Given the description of an element on the screen output the (x, y) to click on. 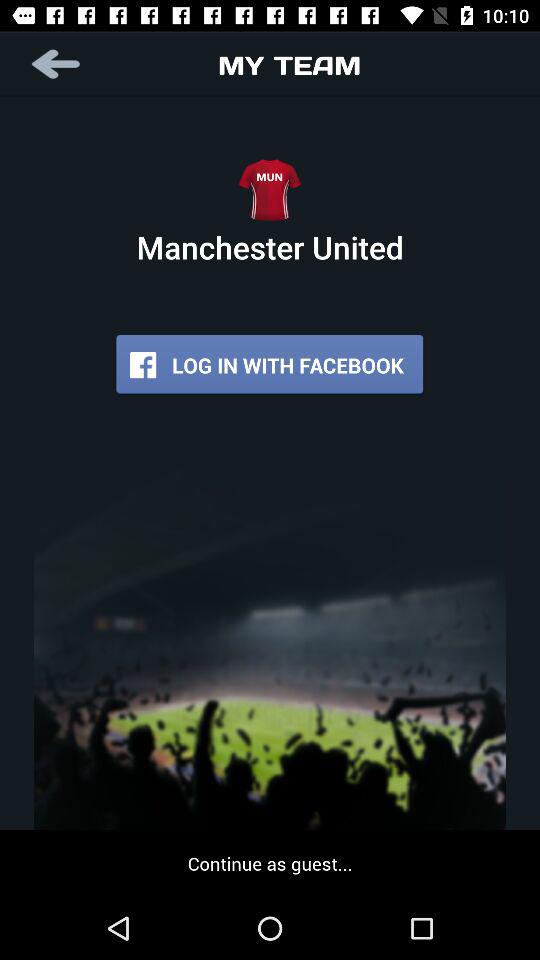
flip to the continue as guest... app (270, 863)
